Given the description of an element on the screen output the (x, y) to click on. 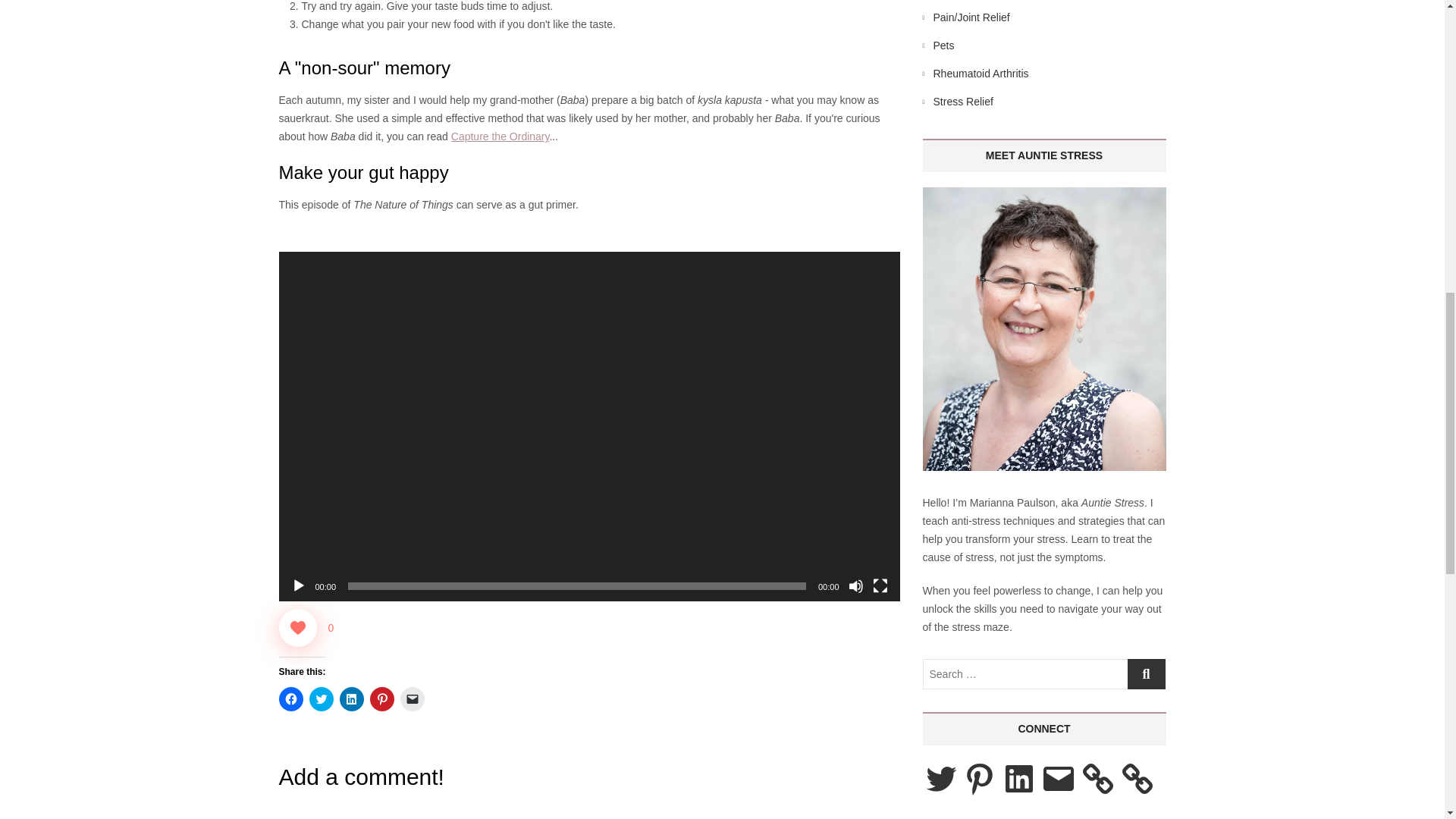
Click to share on LinkedIn (351, 699)
Click to share on Twitter (320, 699)
Mute (855, 585)
Click to share on Facebook (290, 699)
Click to email a link to a friend (412, 699)
Click to share on Pinterest (381, 699)
Play (298, 585)
Fullscreen (879, 585)
